Given the description of an element on the screen output the (x, y) to click on. 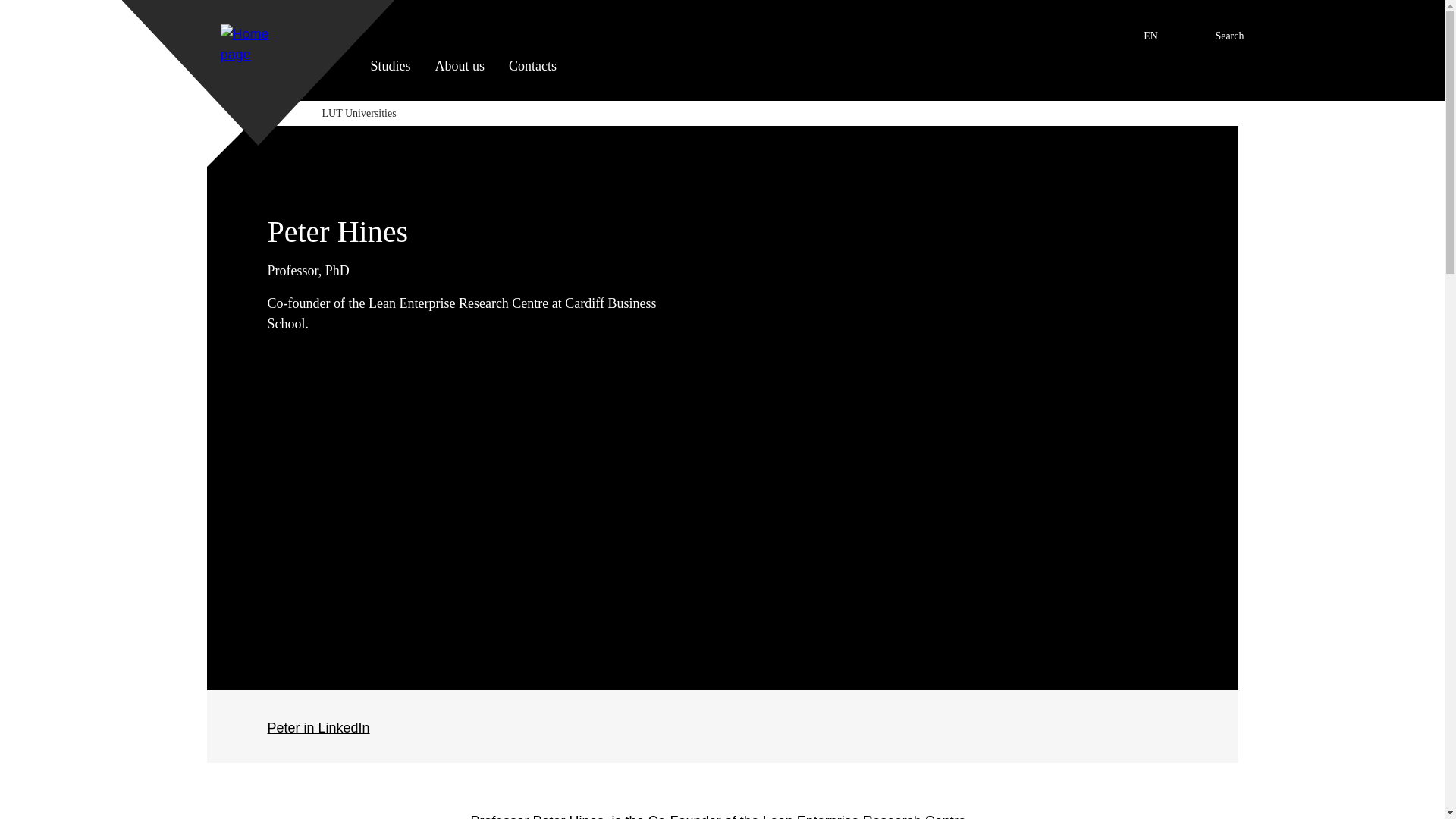
Studies (389, 78)
Peter in LinkedIn (317, 728)
LUT Universities (257, 50)
Contacts (532, 78)
Search (1213, 26)
About us (1132, 30)
Skip to main content (459, 78)
Home page (13, 7)
